Given the description of an element on the screen output the (x, y) to click on. 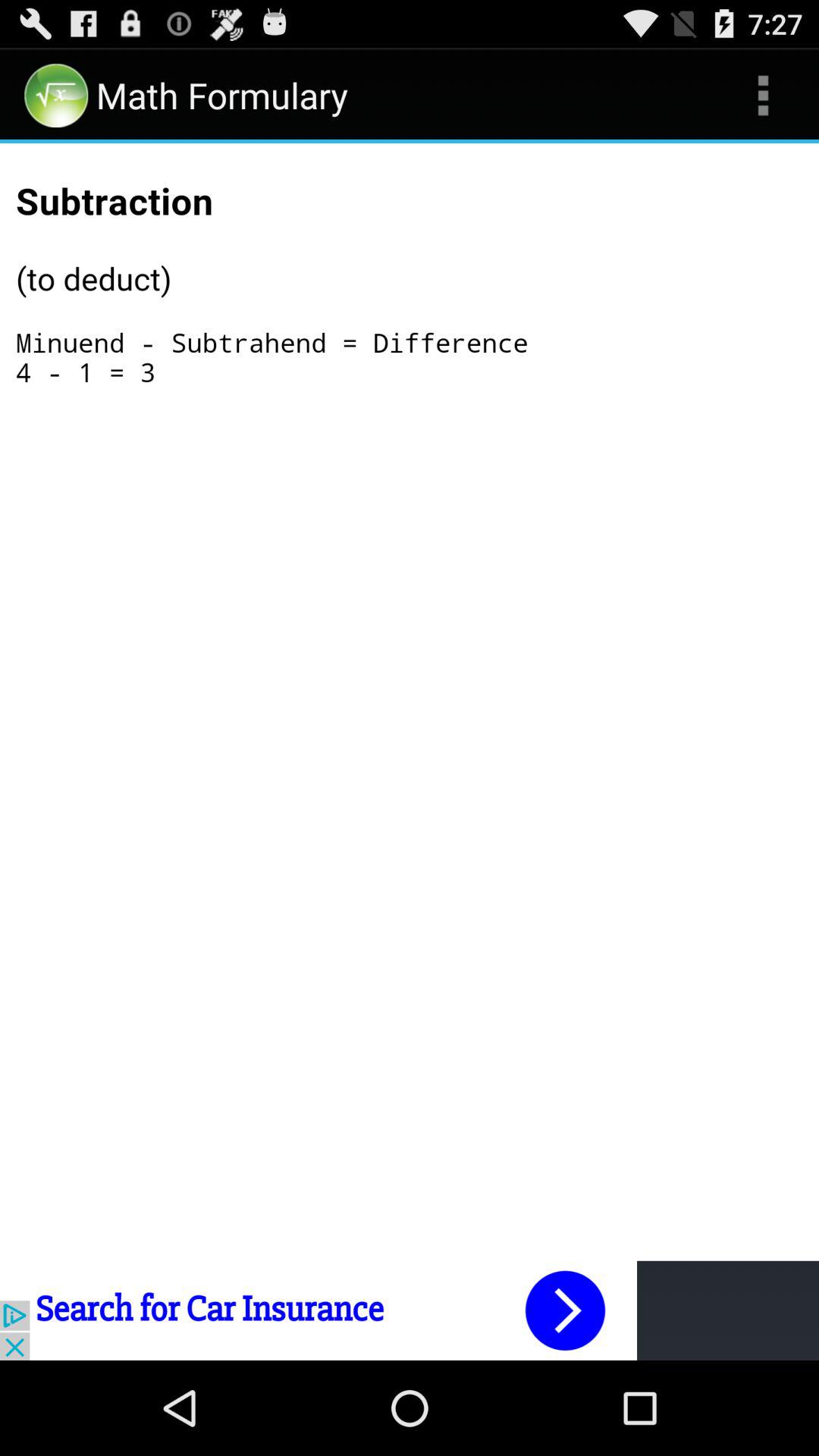
formula (409, 306)
